Given the description of an element on the screen output the (x, y) to click on. 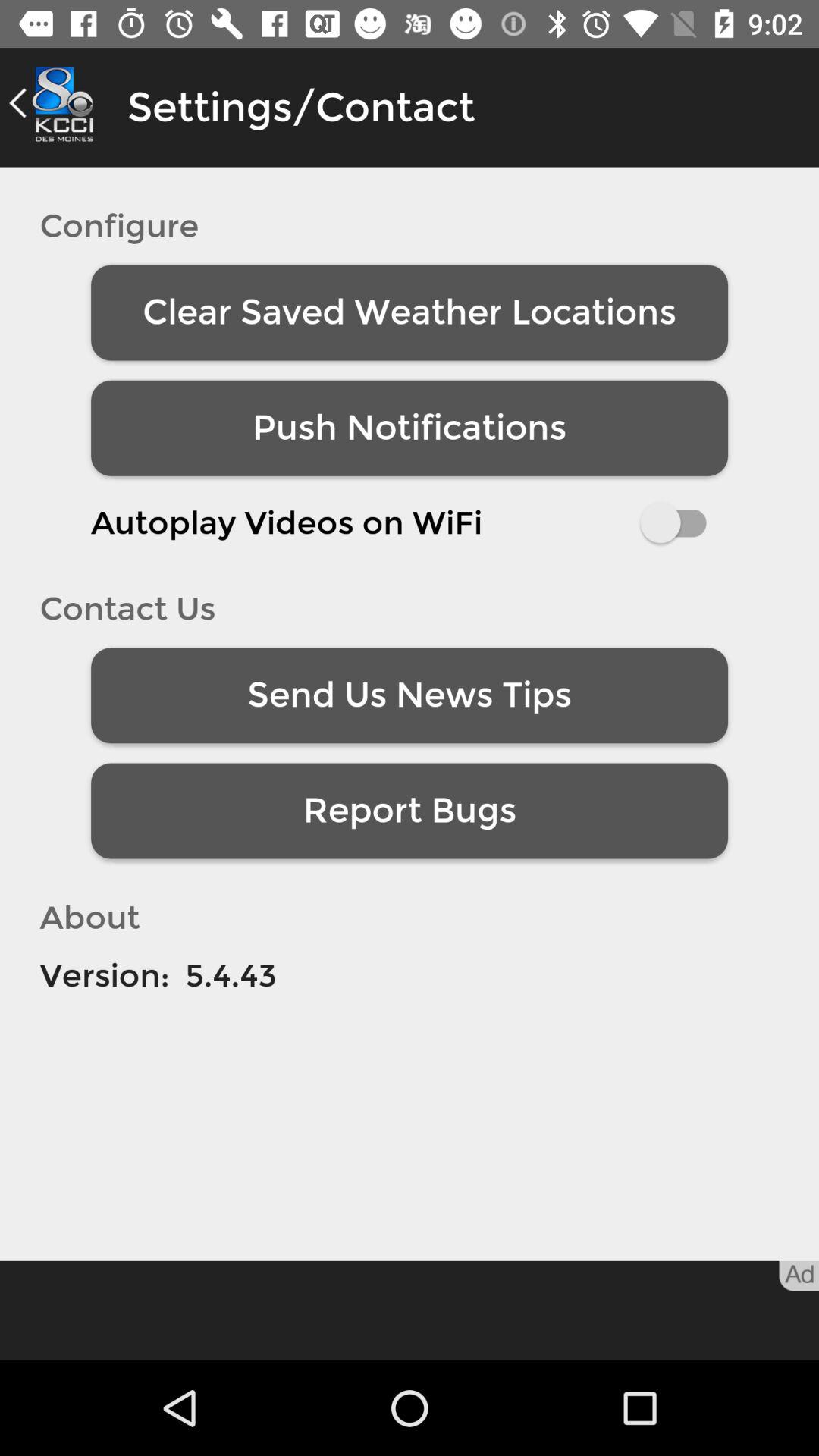
click item above the about item (409, 810)
